Given the description of an element on the screen output the (x, y) to click on. 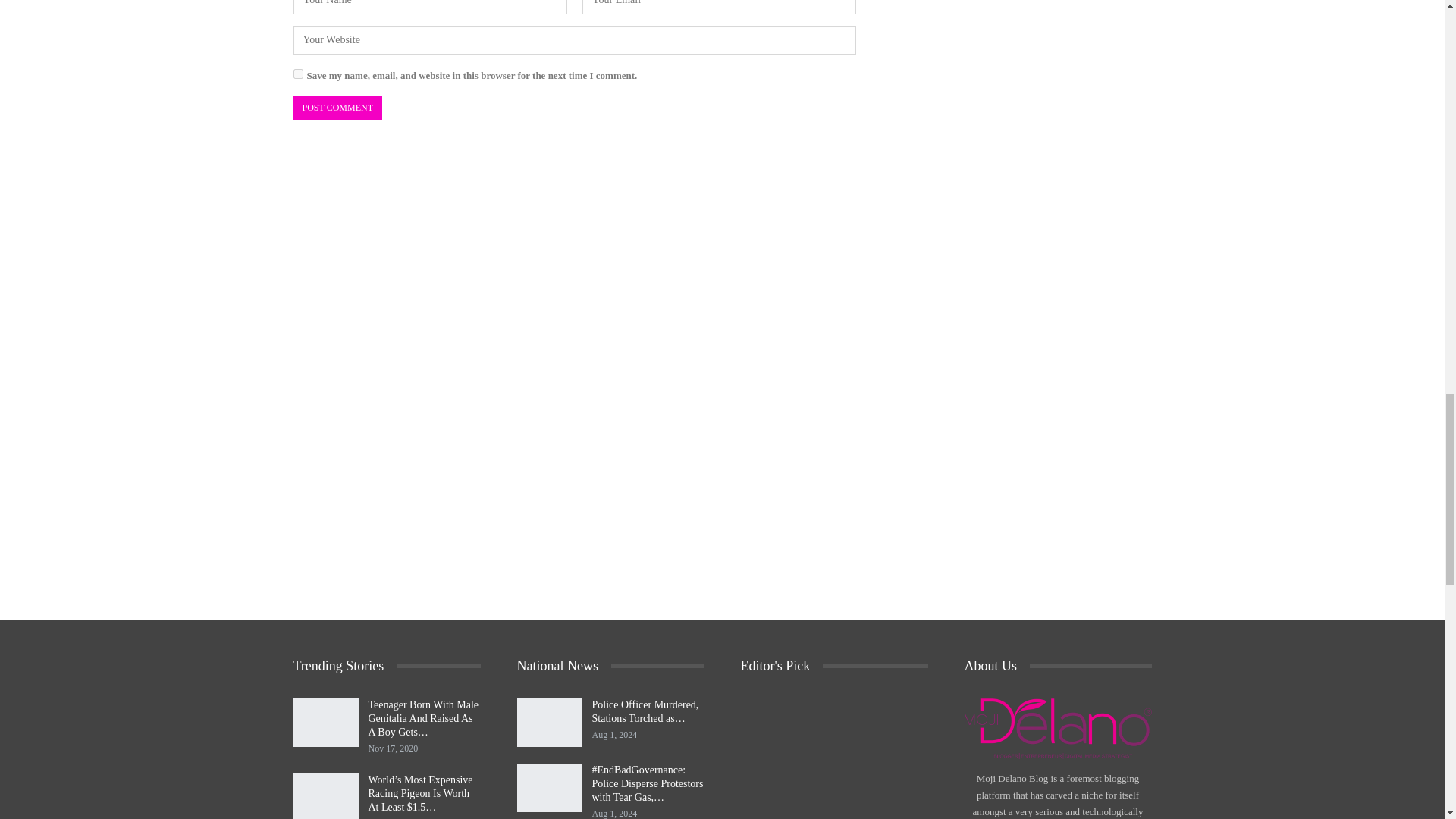
Post Comment (336, 107)
yes (297, 73)
